Given the description of an element on the screen output the (x, y) to click on. 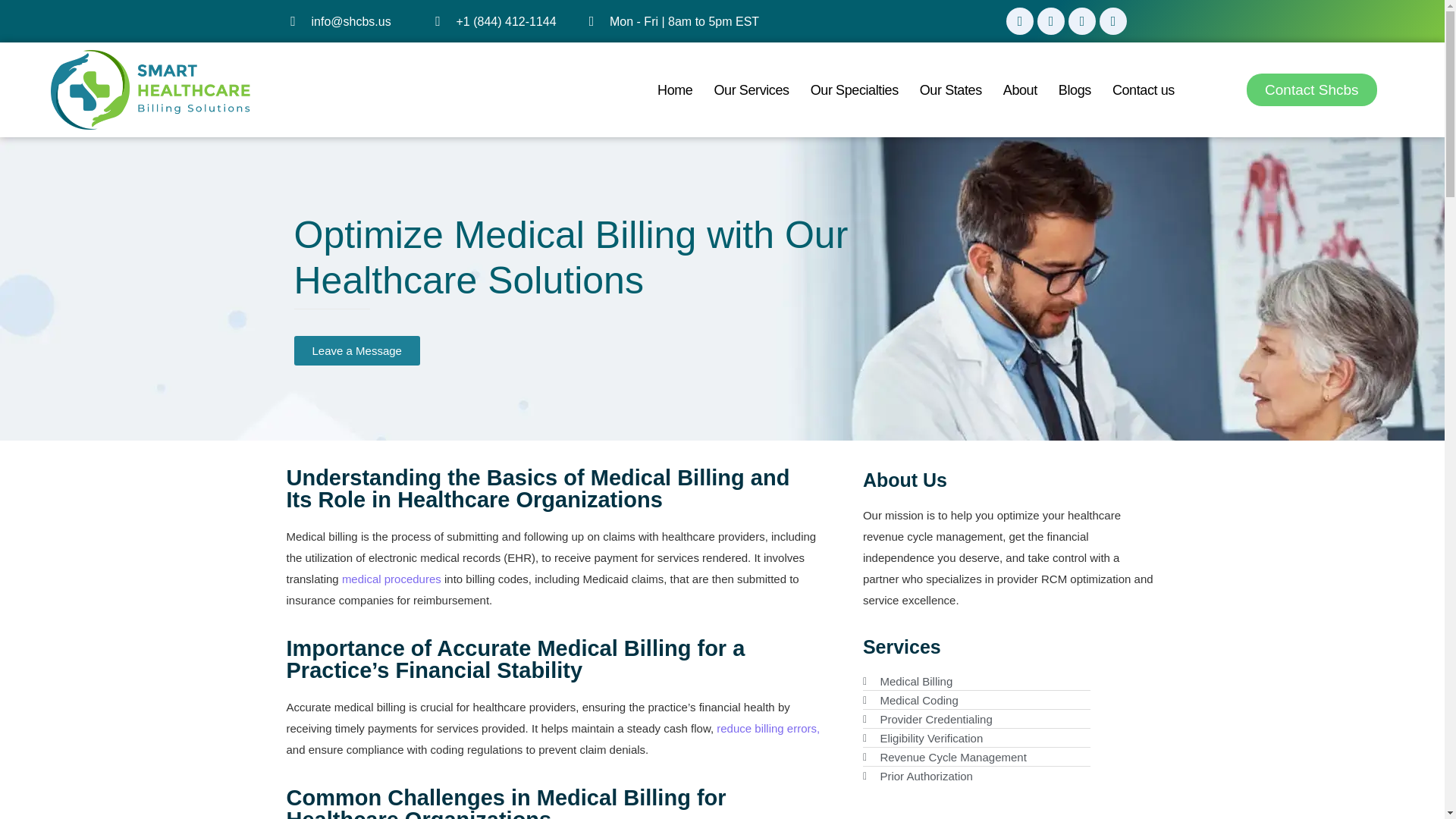
Our States (950, 89)
Our Services (750, 89)
Contact us (1142, 89)
Blogs (1074, 89)
About (1019, 89)
Home (674, 89)
Our Specialties (854, 89)
